Given the description of an element on the screen output the (x, y) to click on. 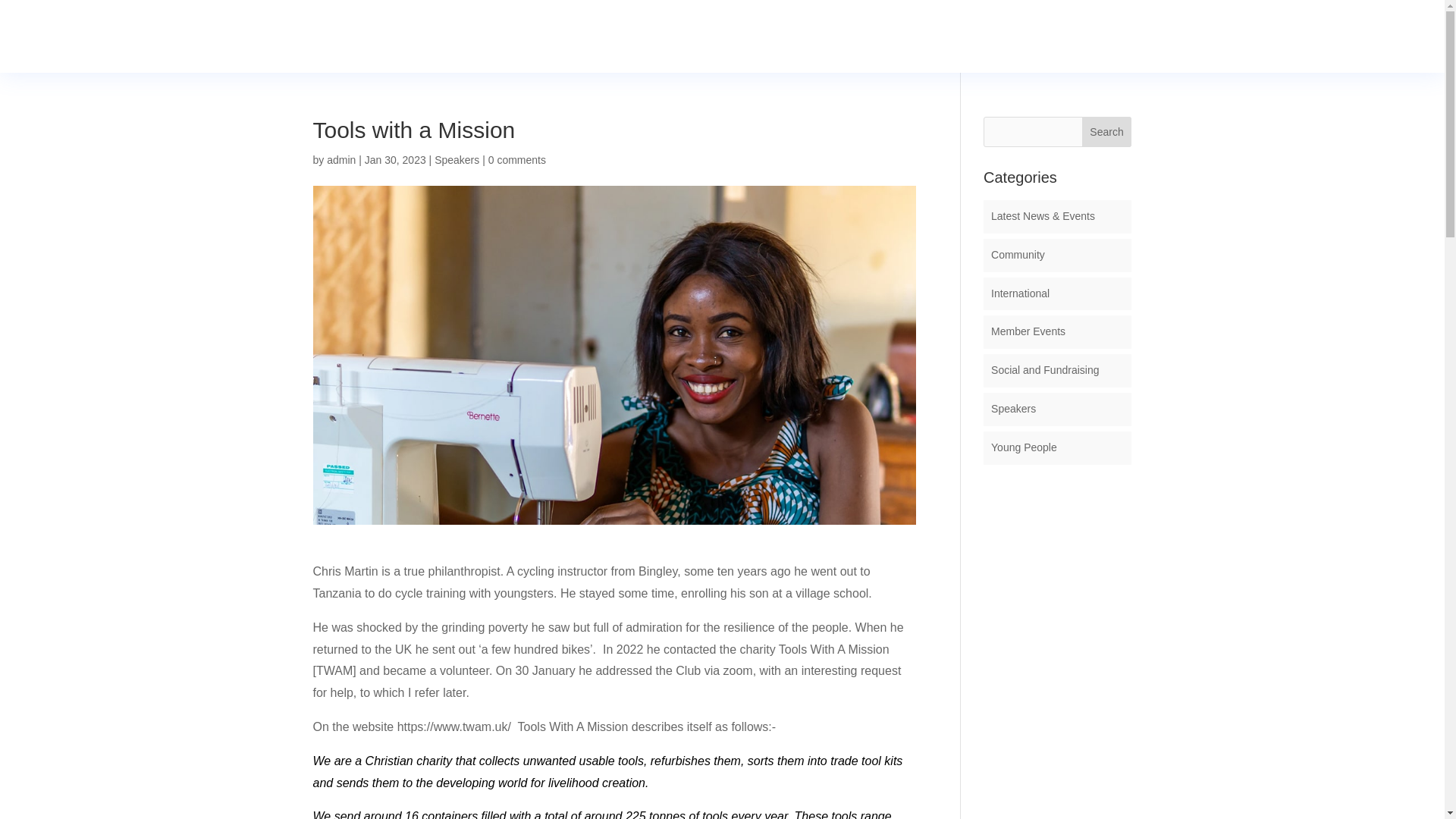
Speakers (456, 159)
Search (1106, 132)
Member Events (1028, 331)
Speakers (1013, 408)
Posts by admin (340, 159)
Social and Fundraising (1045, 369)
admin (340, 159)
0 comments (516, 159)
Young People (1024, 447)
Community (1018, 254)
